Given the description of an element on the screen output the (x, y) to click on. 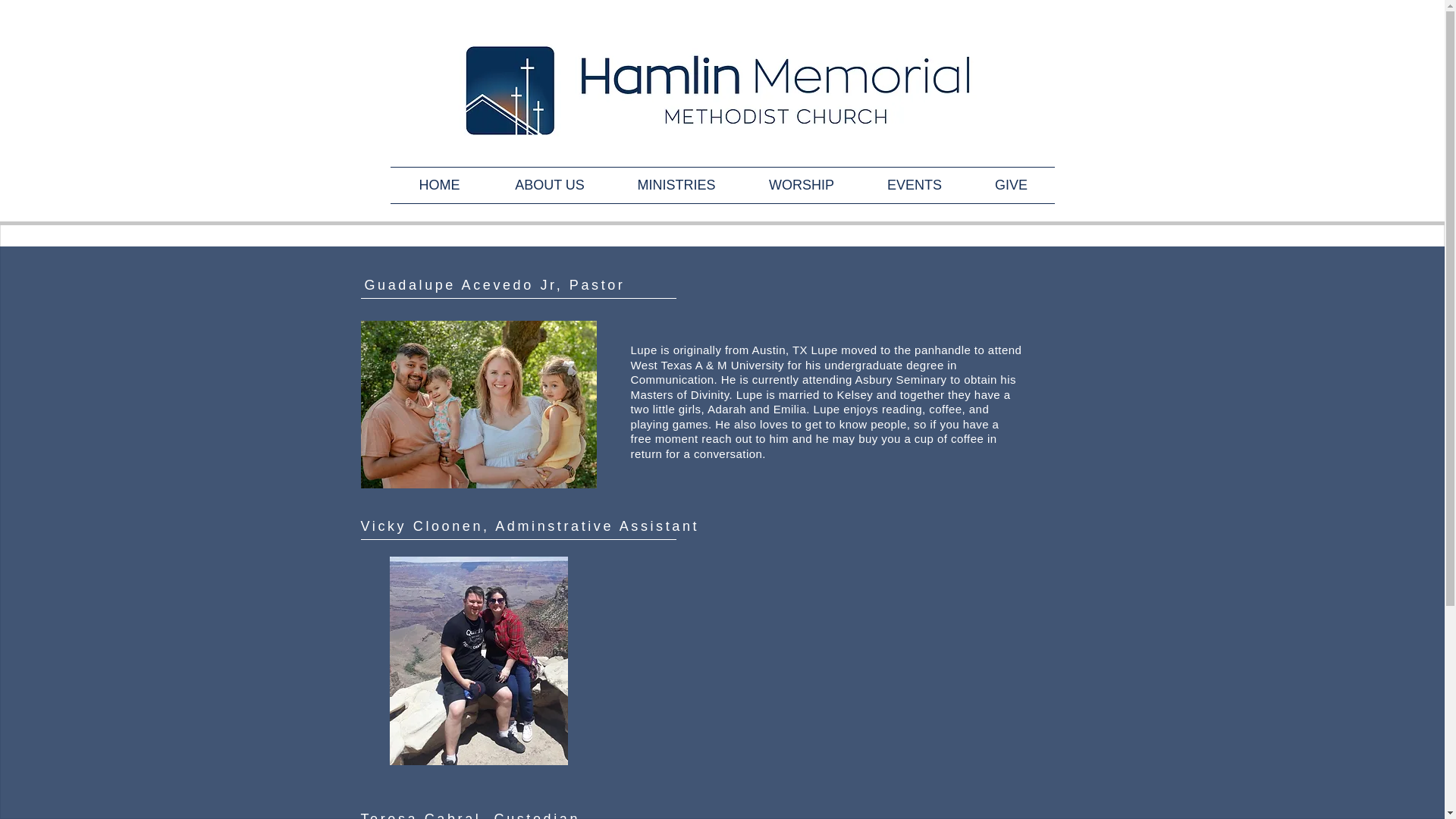
WORSHIP (800, 185)
EVENTS (914, 185)
HOME (438, 185)
GIVE (1011, 185)
